Given the description of an element on the screen output the (x, y) to click on. 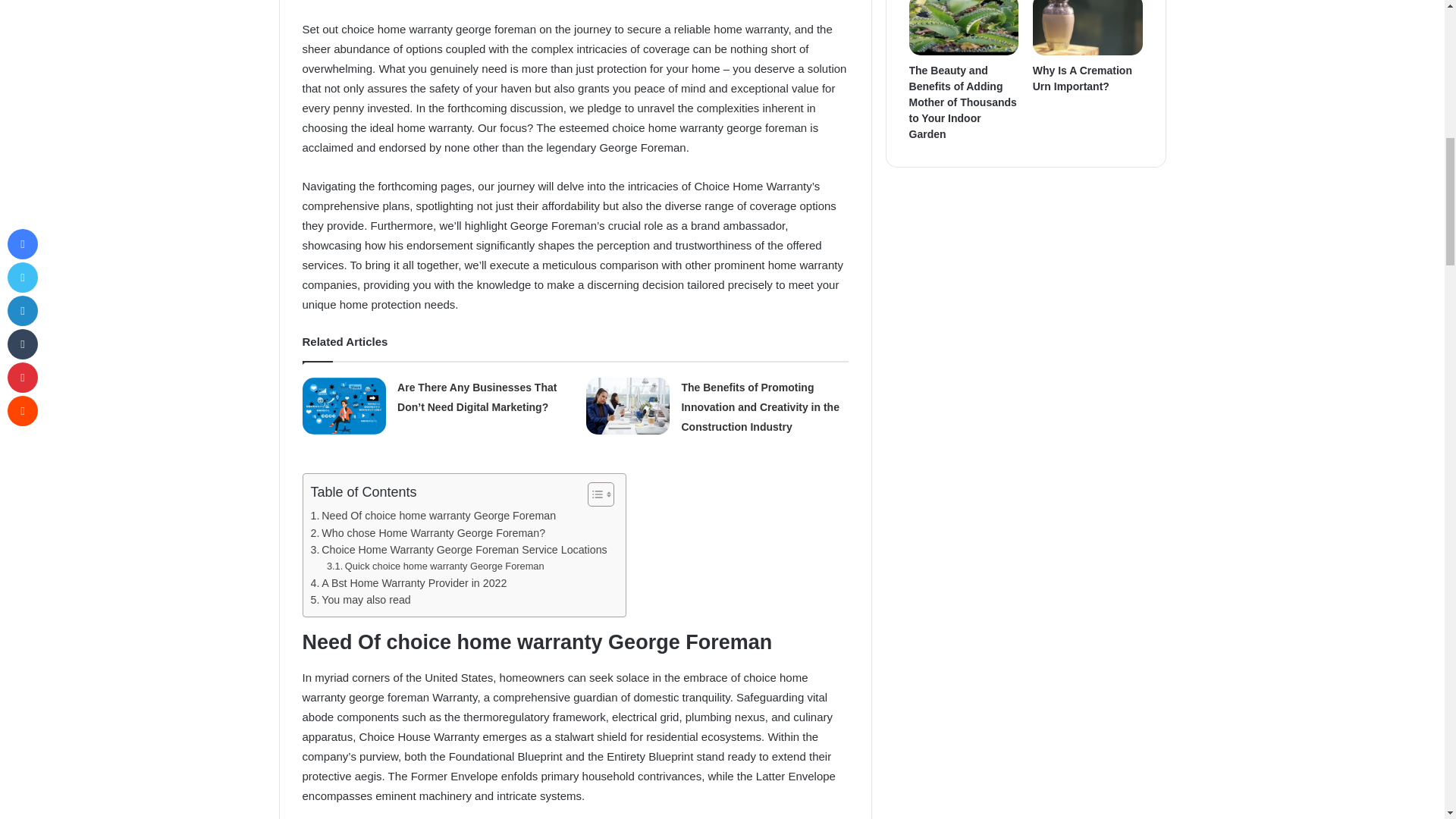
Choice Home Warranty George Foreman Service Locations  (460, 549)
You may also read (360, 600)
Who chose Home Warranty George Foreman? (428, 533)
Are There Any Businesses That Don't Need Digital Marketing? (343, 405)
Quick choice home warranty George Foreman (435, 566)
Need Of choice home warranty George Foreman (433, 515)
Need Of choice home warranty George Foreman (433, 515)
A Bst Home Warranty Provider in 2022 (408, 583)
Who chose Home Warranty George Foreman? (428, 533)
